Given the description of an element on the screen output the (x, y) to click on. 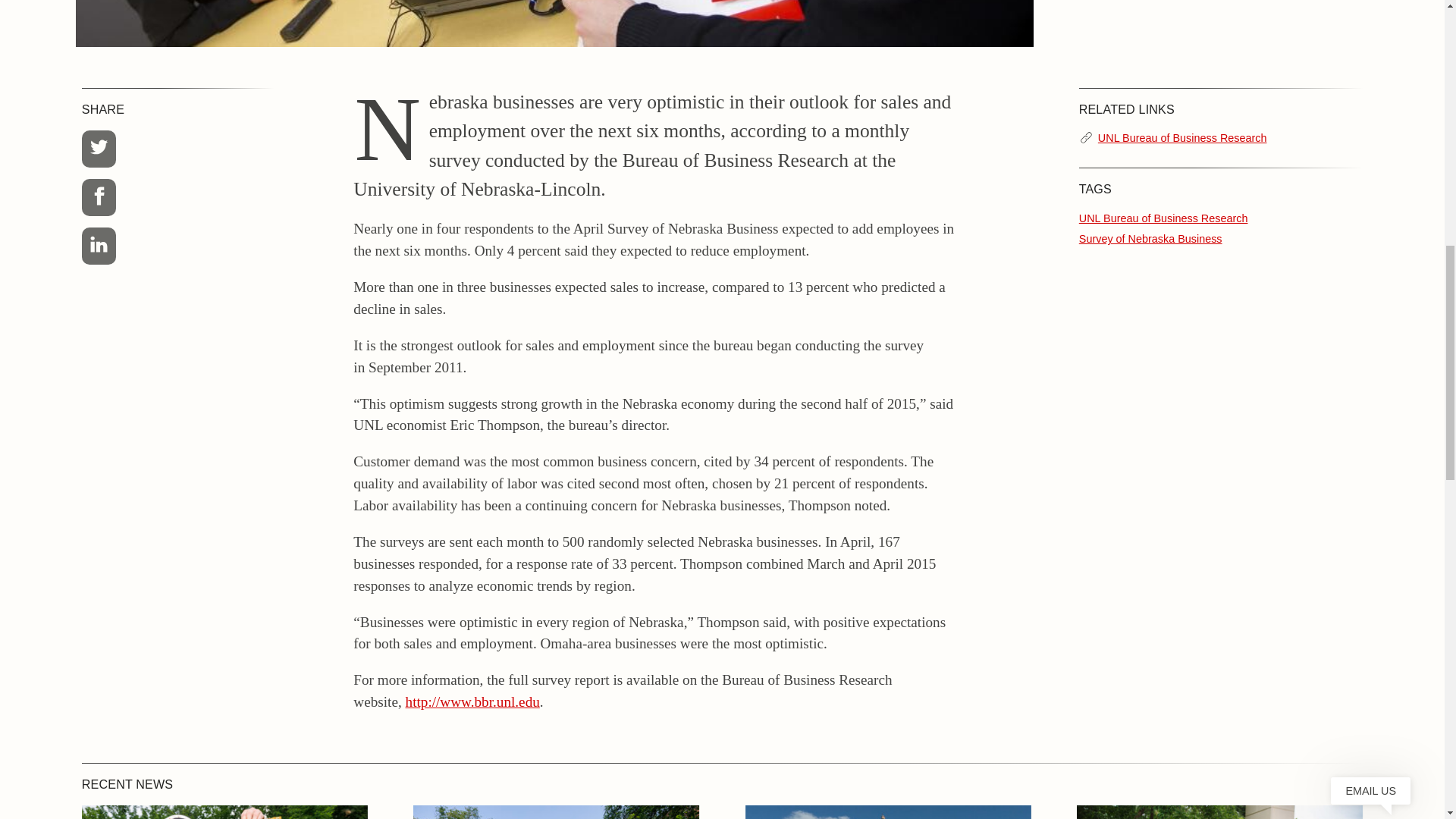
Survey of Nebraska Business (1150, 238)
UNL Bureau of Business Research (1181, 138)
UNL Bureau of Business Research (1162, 218)
